Given the description of an element on the screen output the (x, y) to click on. 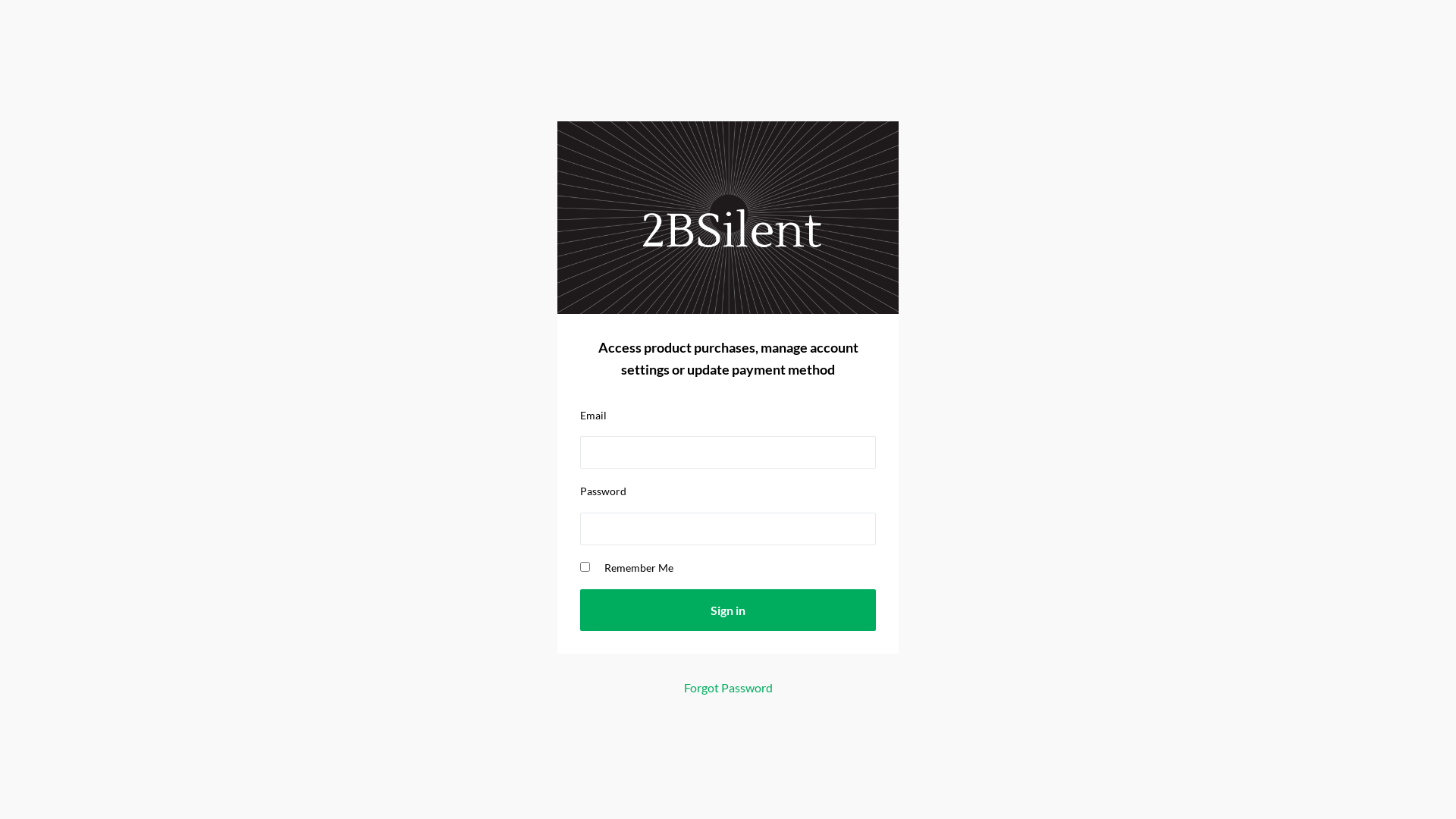
Forgot Password Element type: text (727, 687)
Sign in Element type: text (727, 609)
